Given the description of an element on the screen output the (x, y) to click on. 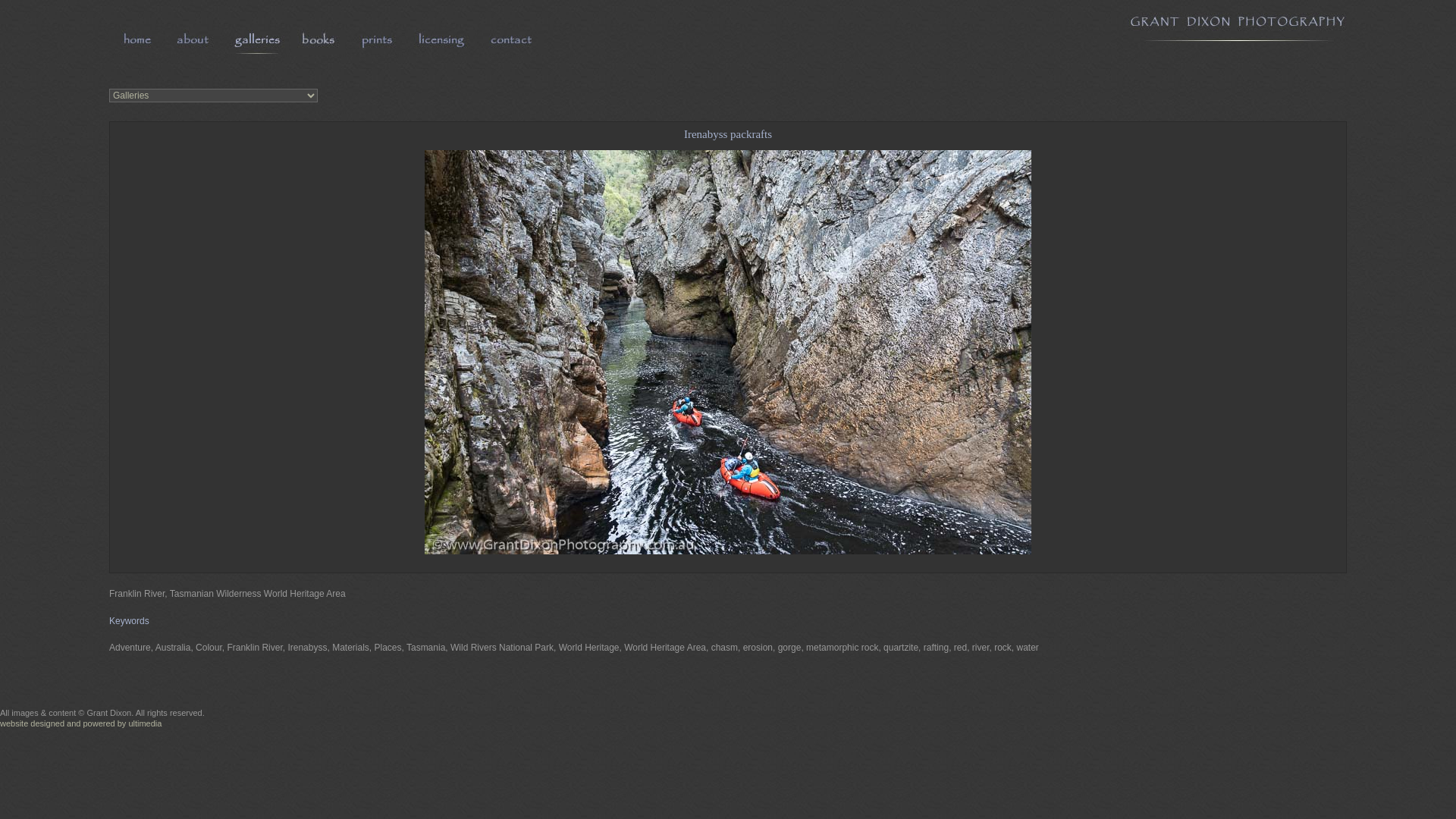
website designed and powered by ultimedia Element type: text (80, 723)
